Given the description of an element on the screen output the (x, y) to click on. 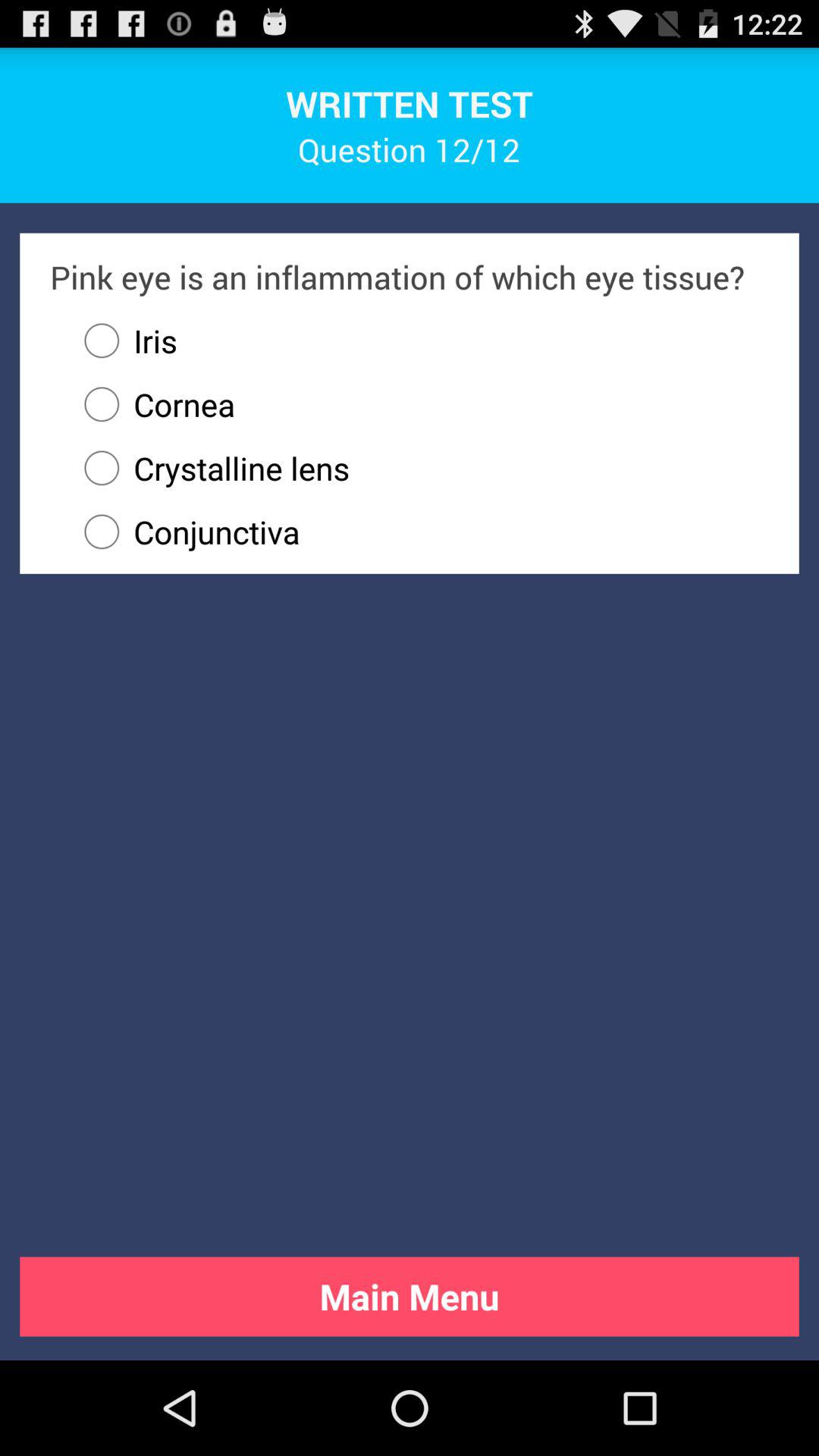
click icon below iris icon (151, 404)
